Given the description of an element on the screen output the (x, y) to click on. 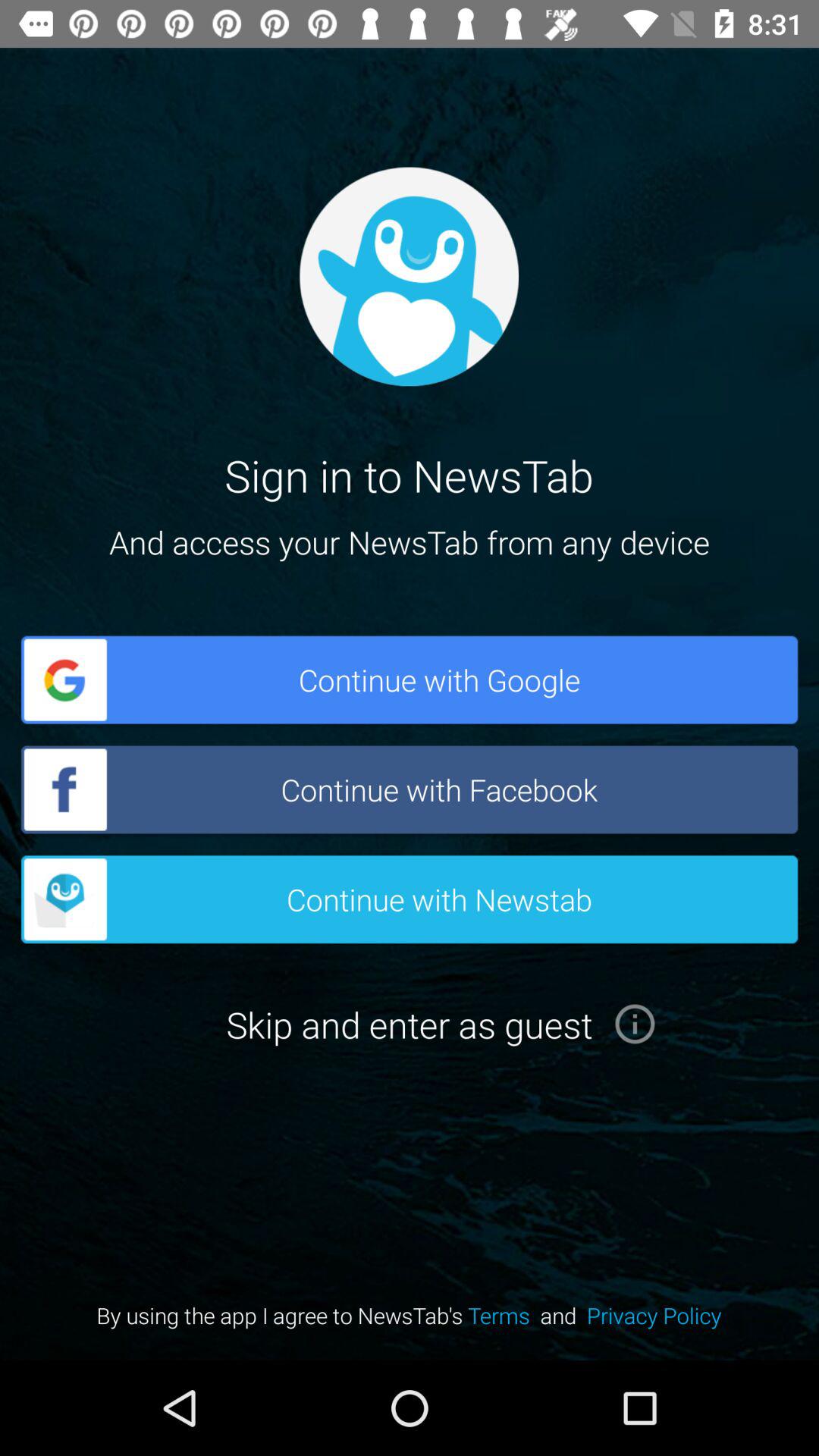
skip button (634, 1023)
